Given the description of an element on the screen output the (x, y) to click on. 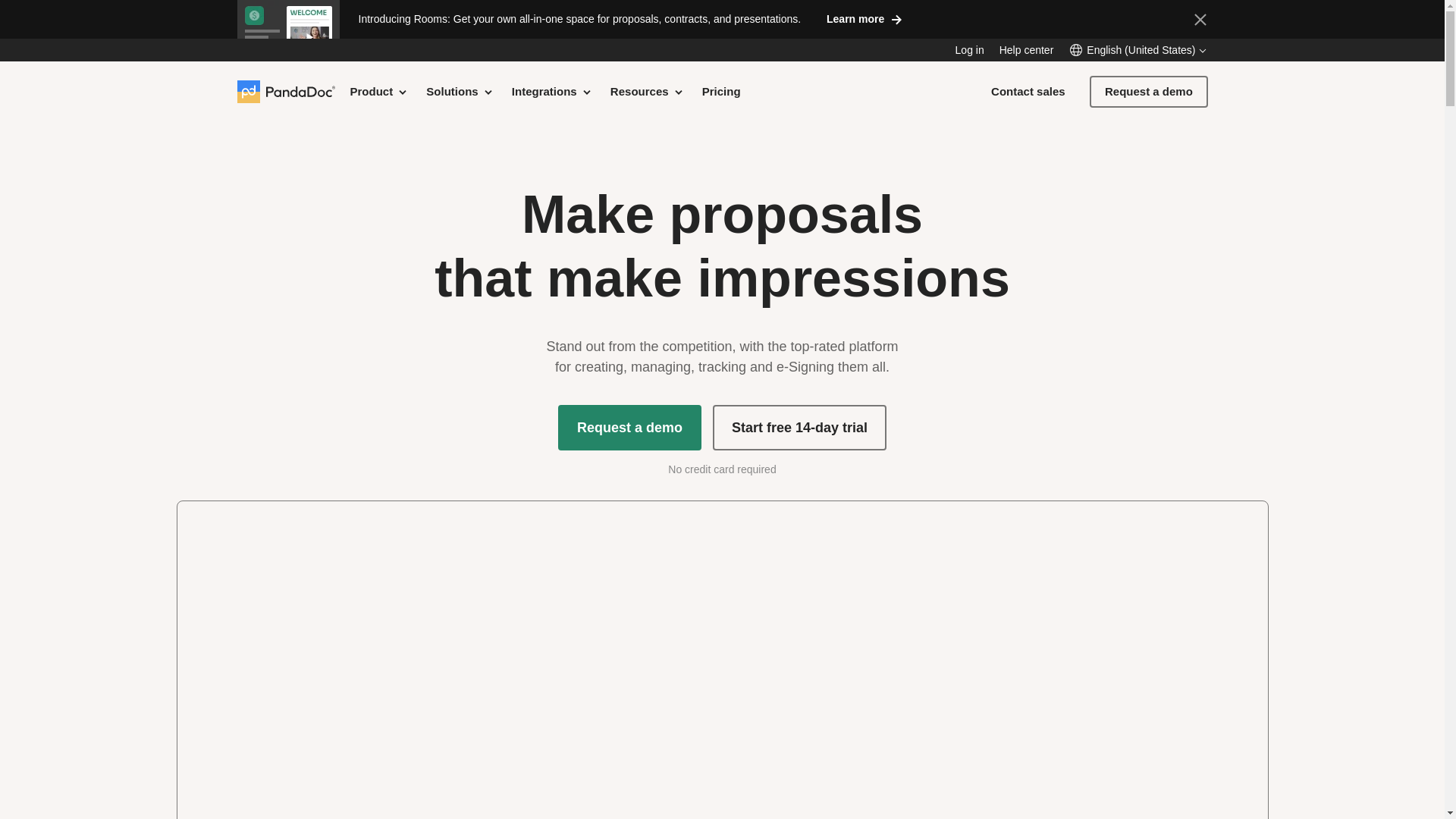
Log in (969, 50)
Solutions (459, 91)
Product (379, 91)
Help center (1026, 50)
Learn more (864, 18)
